Given the description of an element on the screen output the (x, y) to click on. 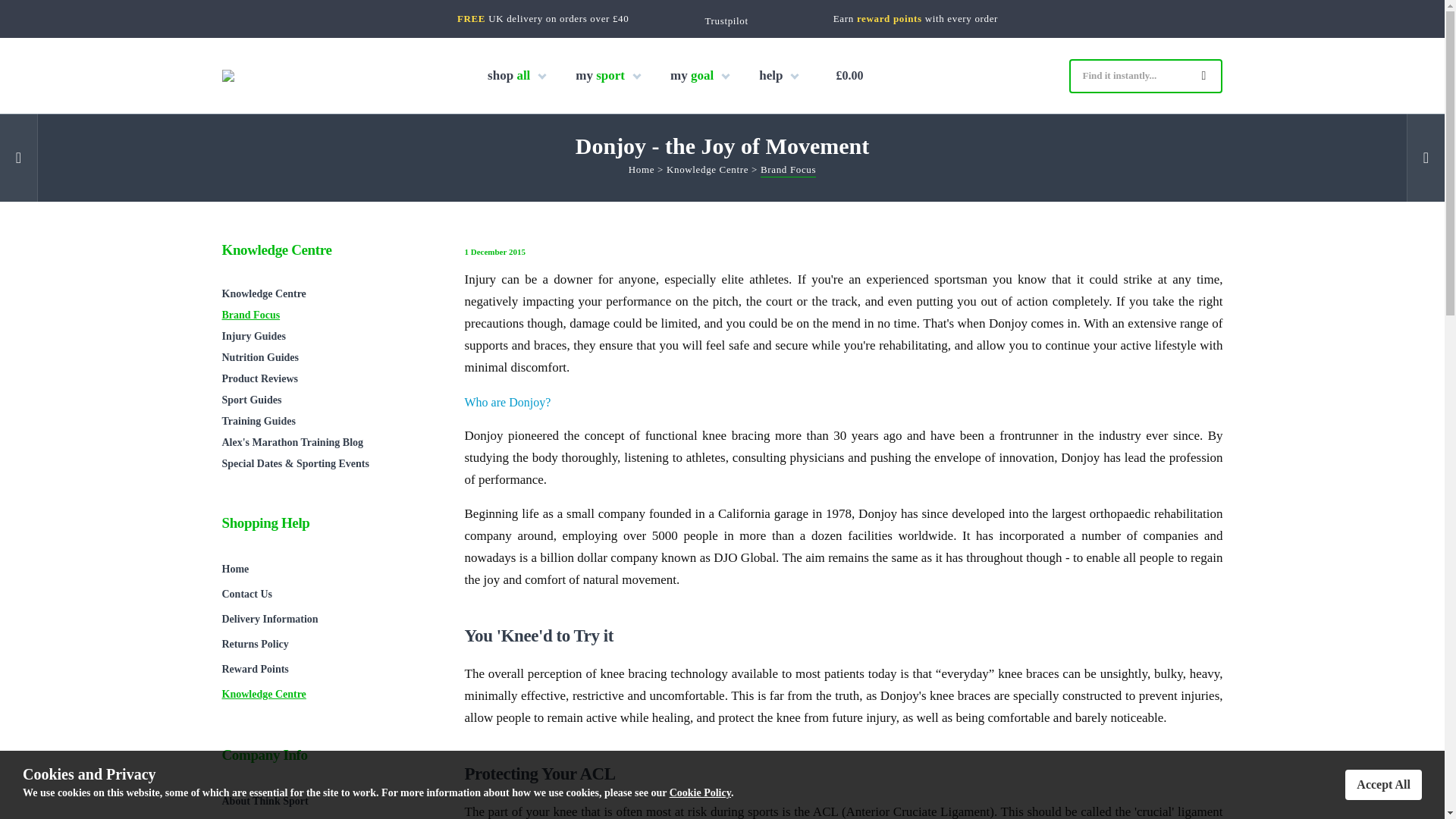
Knowledge Centre (327, 293)
Brand Focus (787, 170)
About Think Sport (327, 801)
Product Reviews (327, 378)
Knowledge Centre (707, 170)
Returns Policy (327, 643)
Delivery Information (327, 618)
Training Guides (327, 421)
Contact Us (327, 593)
Home (640, 170)
